Given the description of an element on the screen output the (x, y) to click on. 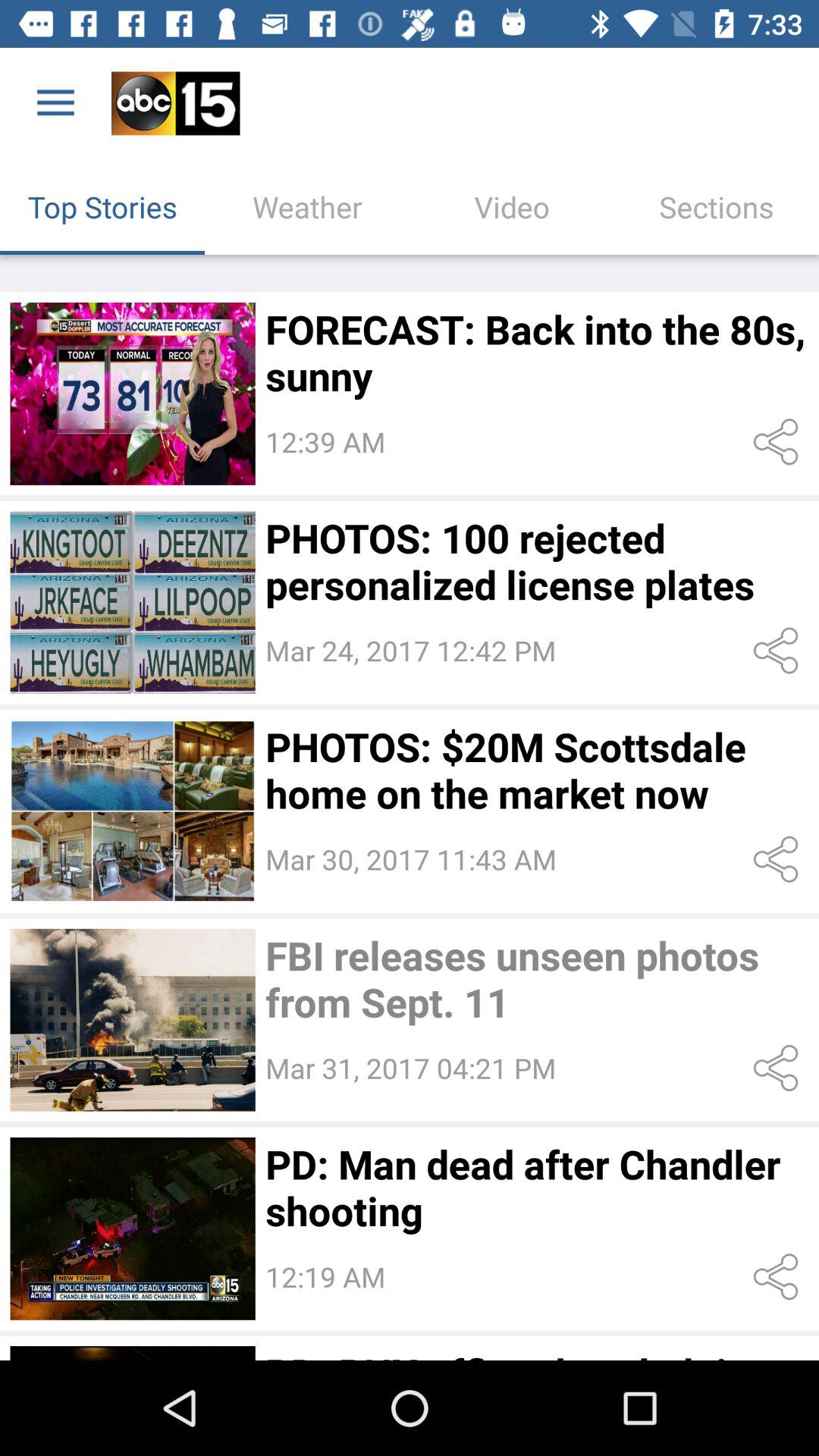
open story (132, 1228)
